Given the description of an element on the screen output the (x, y) to click on. 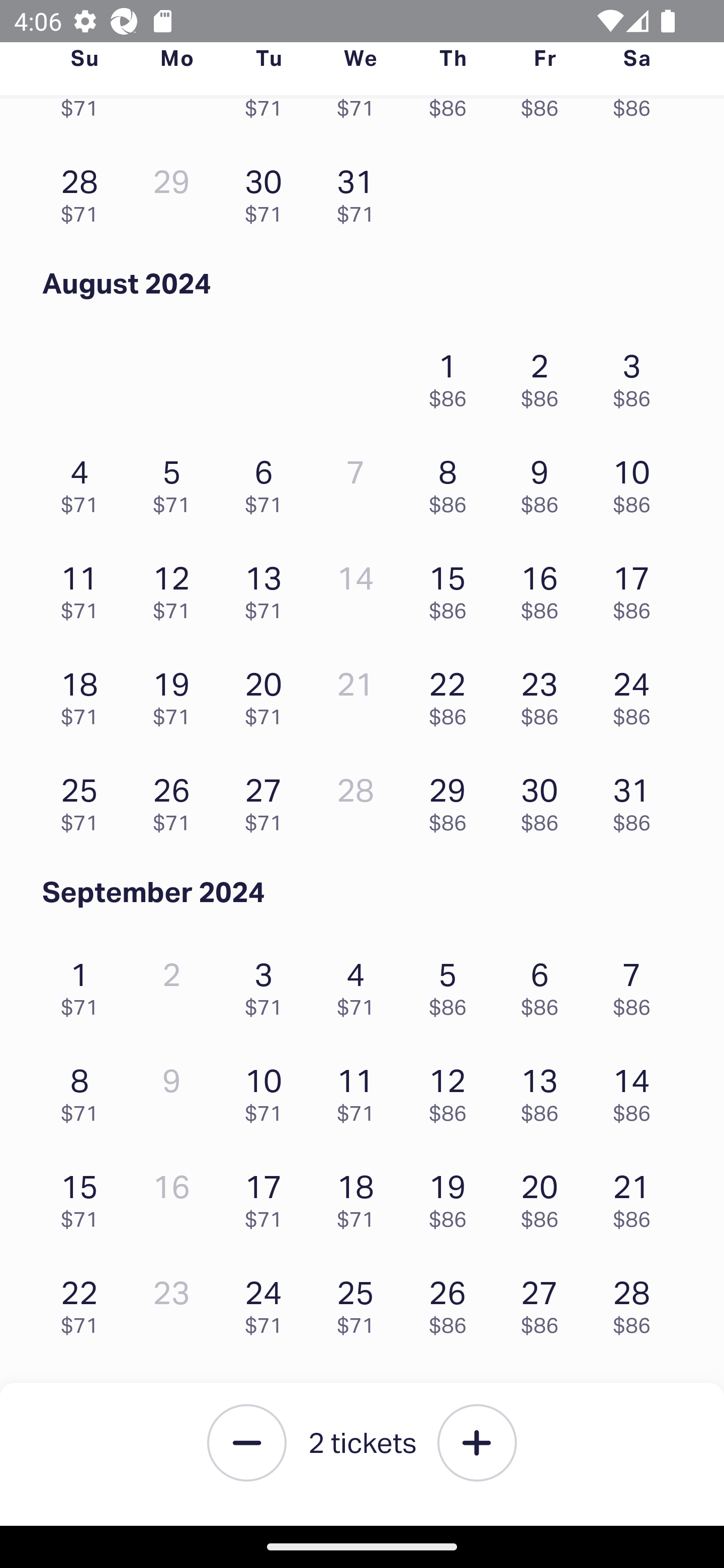
28 $71 (84, 191)
30 $71 (268, 191)
31 $71 (360, 191)
1 $86 (452, 375)
2 $86 (544, 375)
3 $86 (636, 375)
4 $71 (84, 481)
5 $71 (176, 481)
6 $71 (268, 481)
8 $86 (452, 481)
9 $86 (544, 481)
10 $86 (636, 481)
11 $71 (84, 586)
12 $71 (176, 586)
13 $71 (268, 586)
15 $86 (452, 586)
16 $86 (544, 586)
17 $86 (636, 586)
18 $71 (84, 693)
19 $71 (176, 693)
20 $71 (268, 693)
22 $86 (452, 693)
23 $86 (544, 693)
24 $86 (636, 693)
25 $71 (84, 800)
26 $71 (176, 800)
27 $71 (268, 800)
29 $86 (452, 800)
30 $86 (544, 800)
31 $86 (636, 800)
1 $71 (84, 983)
3 $71 (268, 983)
4 $71 (360, 983)
5 $86 (452, 983)
6 $86 (544, 983)
7 $86 (636, 983)
8 $71 (84, 1090)
10 $71 (268, 1090)
11 $71 (360, 1090)
12 $86 (452, 1090)
13 $86 (544, 1090)
14 $86 (636, 1090)
15 $71 (84, 1196)
17 $71 (268, 1196)
18 $71 (360, 1196)
19 $86 (452, 1196)
20 $86 (544, 1196)
21 $86 (636, 1196)
22 $71 (84, 1301)
24 $71 (268, 1301)
25 $71 (360, 1301)
26 $86 (452, 1301)
27 $86 (544, 1301)
28 $86 (636, 1301)
